Given the description of an element on the screen output the (x, y) to click on. 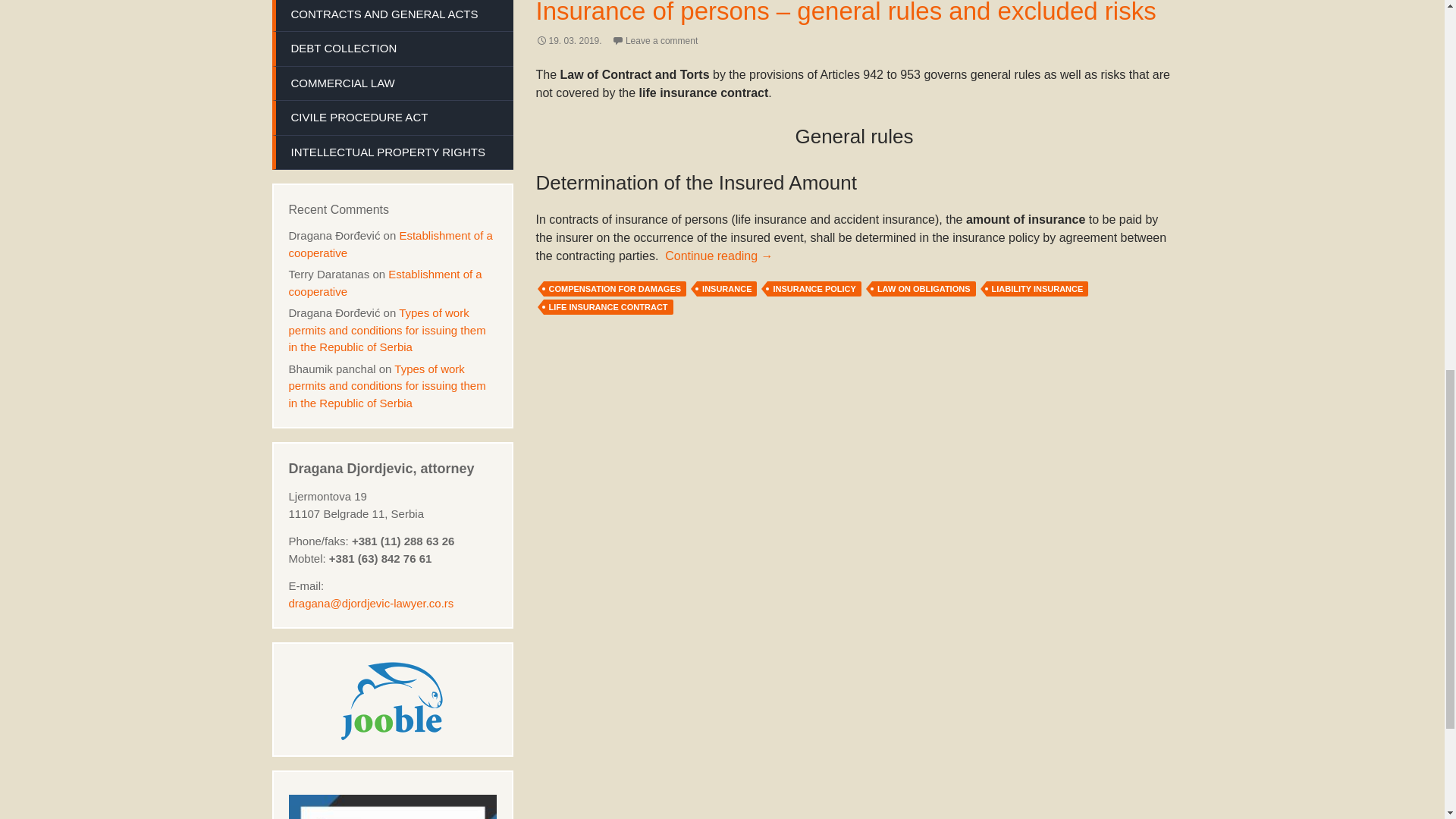
19. 03. 2019. (568, 40)
INSURANCE (727, 288)
COMPENSATION FOR DAMAGES (614, 288)
Leave a comment (654, 40)
Jooble (392, 699)
INSURANCE POLICY (813, 288)
